Given the description of an element on the screen output the (x, y) to click on. 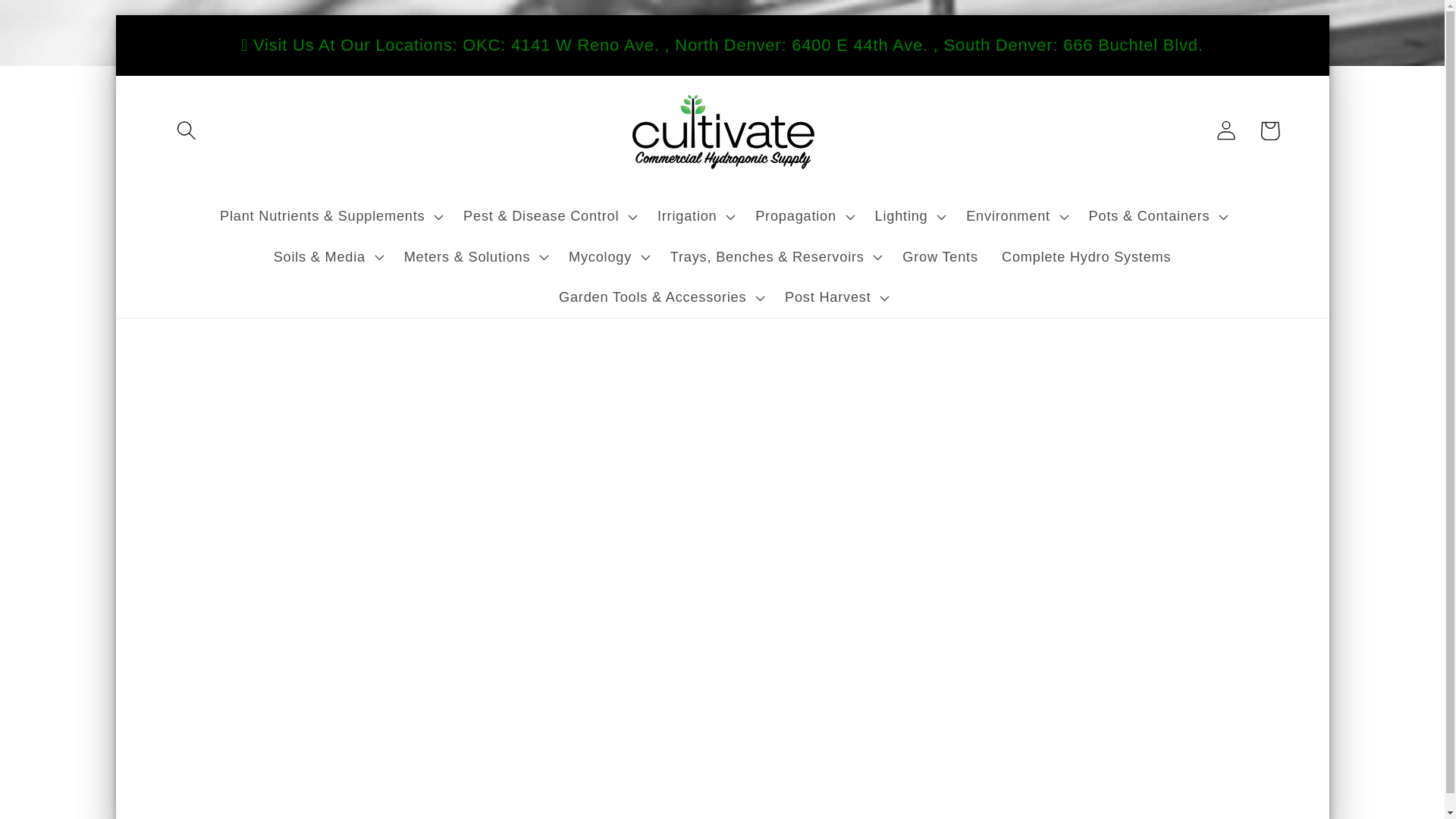
Skip to content (174, 37)
